Given the description of an element on the screen output the (x, y) to click on. 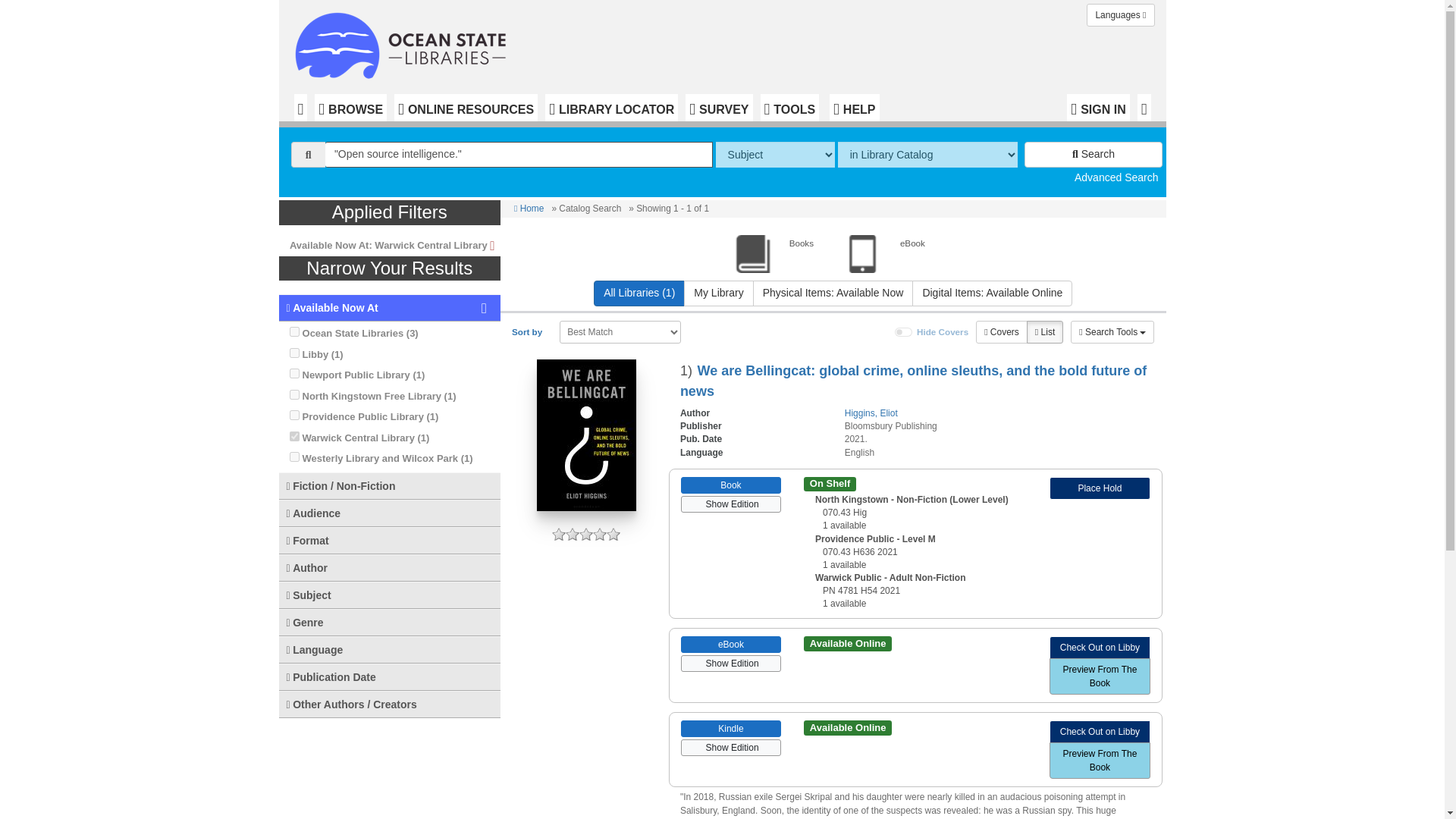
on (903, 331)
SURVEY (718, 107)
on (294, 436)
on (294, 394)
"Open source intelligence." (518, 154)
on (294, 456)
Library Home Page (402, 41)
TOOLS (789, 107)
Languages  (1120, 15)
on (294, 352)
on (294, 415)
SIGN IN (1098, 107)
on (294, 373)
HELP (854, 107)
